Given the description of an element on the screen output the (x, y) to click on. 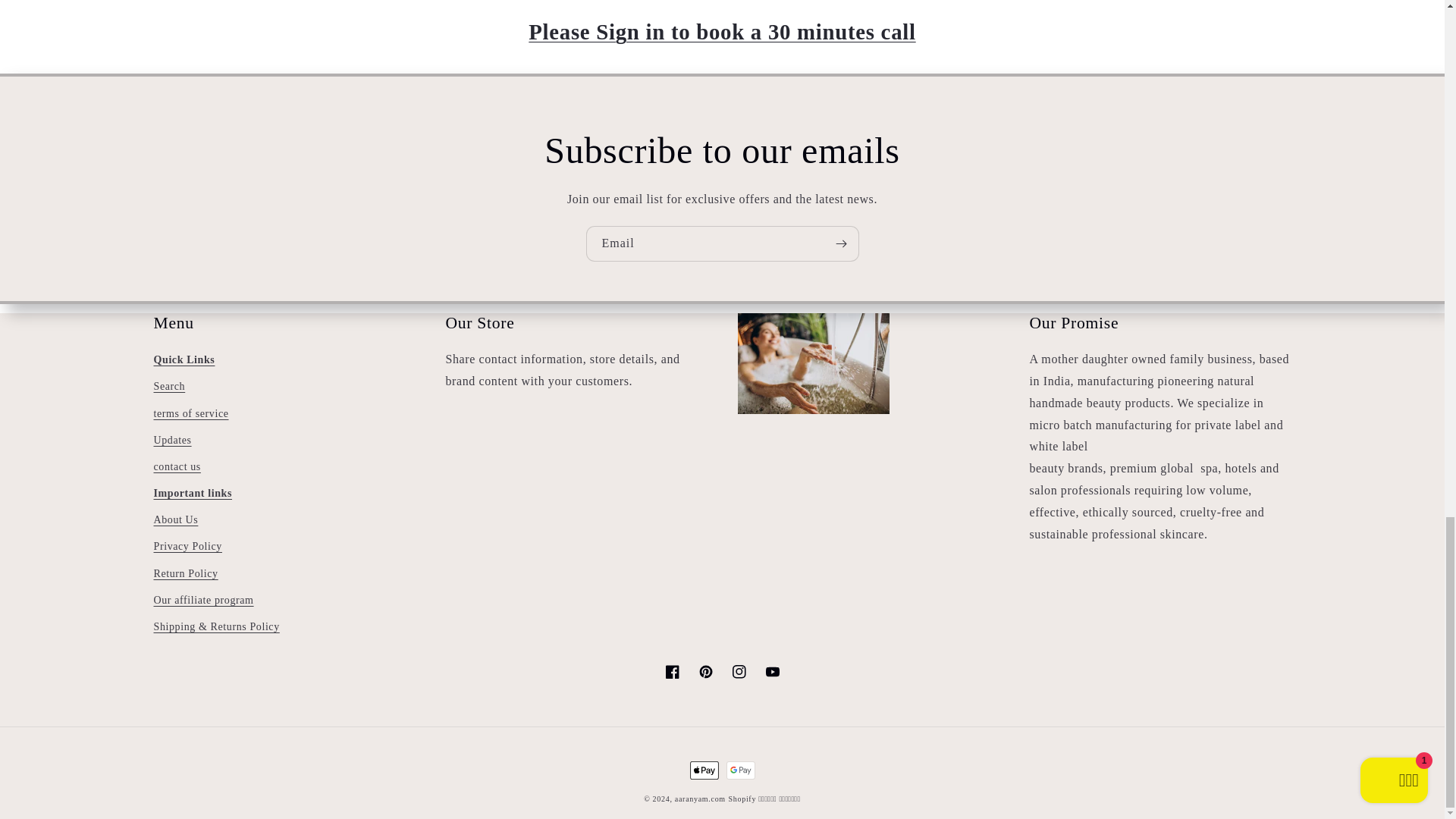
Please Sign to Book a 30 minutes call  (721, 31)
